Given the description of an element on the screen output the (x, y) to click on. 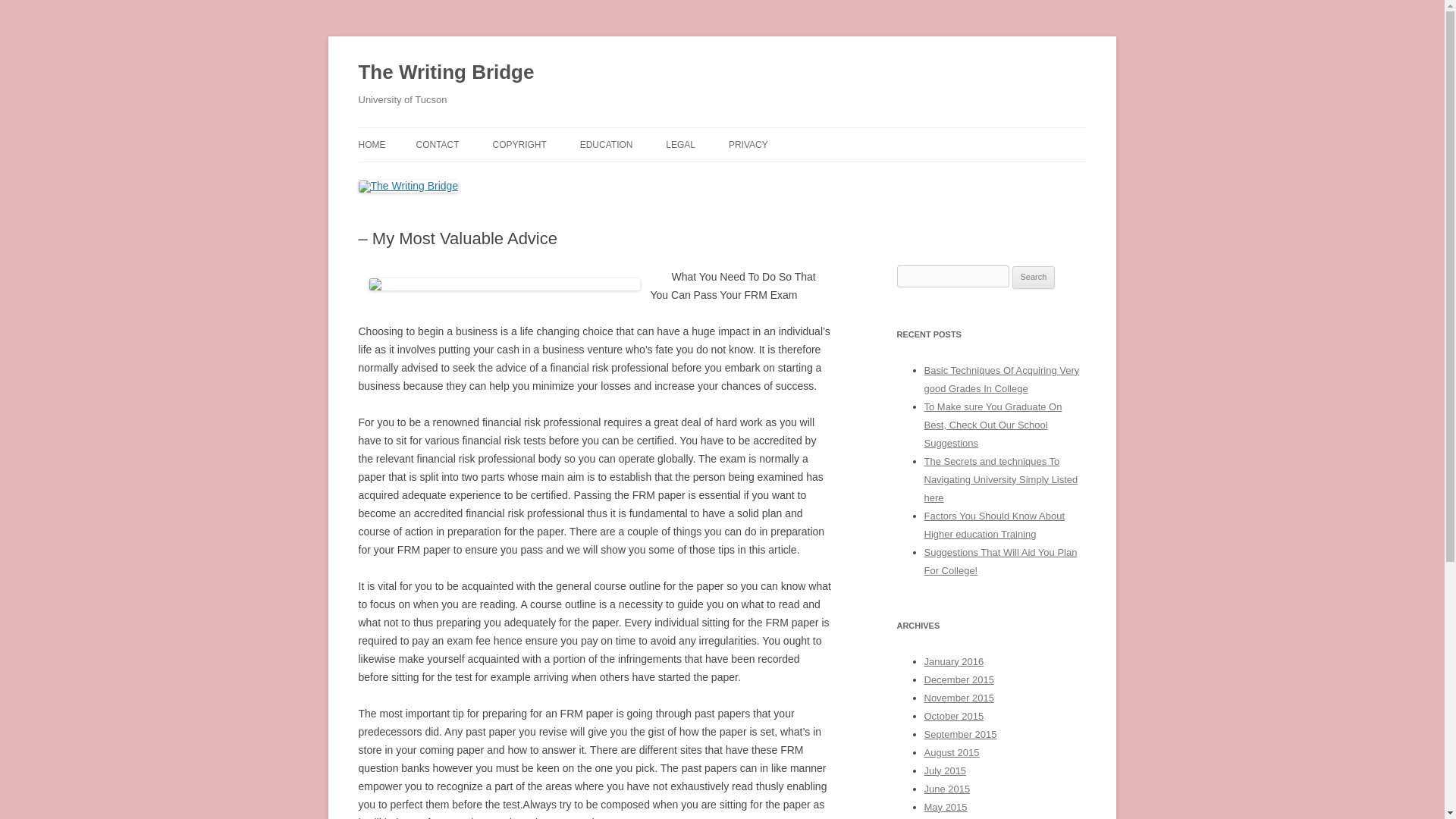
The Writing Bridge (446, 72)
Search (1033, 277)
June 2015 (946, 788)
CONTACT (436, 144)
August 2015 (950, 752)
Factors You Should Know About Higher education Training (993, 524)
July 2015 (944, 770)
Suggestions That Will Aid You Plan For College! (1000, 561)
